Given the description of an element on the screen output the (x, y) to click on. 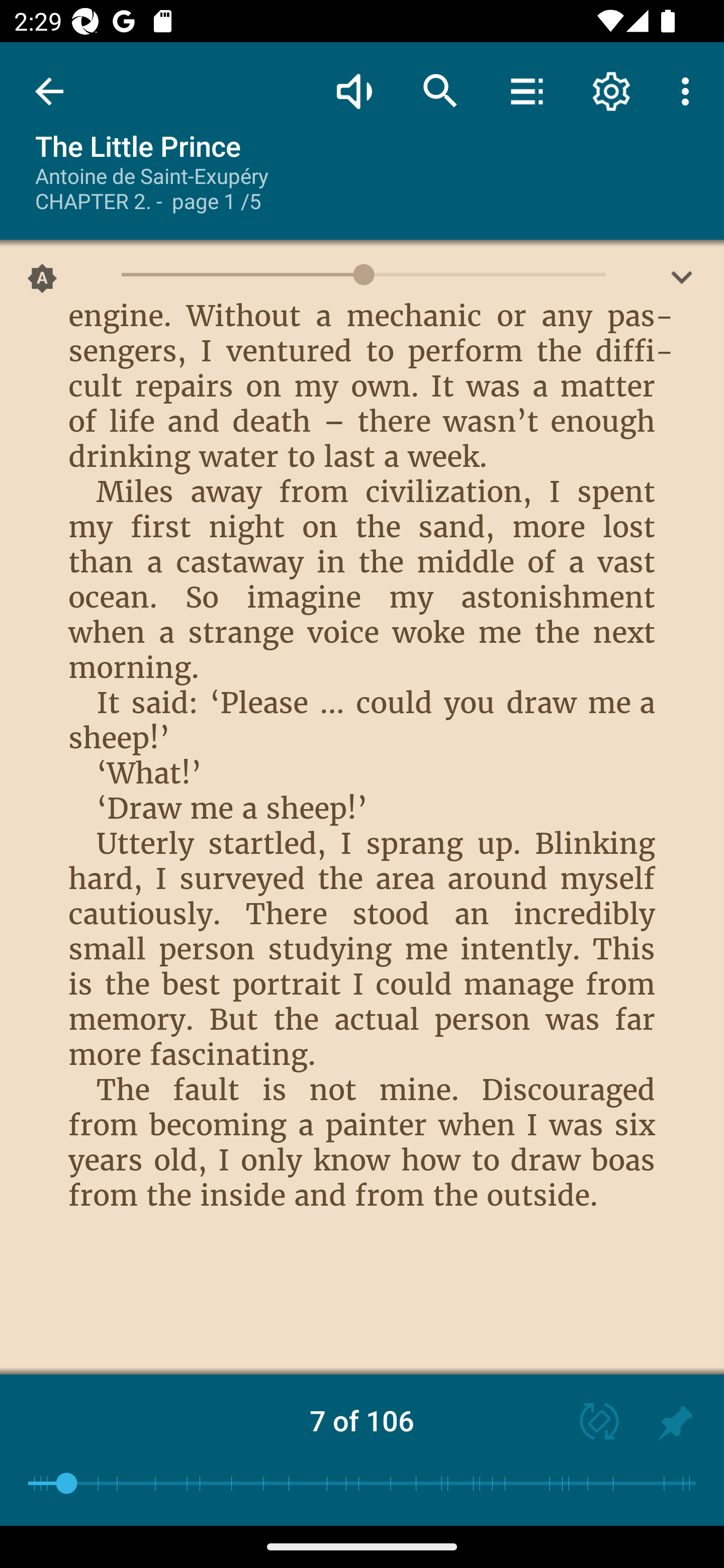
Exit reading (49, 91)
Read aloud (354, 90)
Text search (440, 90)
Contents / Bookmarks / Quotes (526, 90)
Reading settings (611, 90)
More options (688, 90)
Selected screen brightness (42, 281)
Screen brightness settings (681, 281)
7 of 106 (361, 1420)
Screen orientation (590, 1423)
Add to history (674, 1423)
